Given the description of an element on the screen output the (x, y) to click on. 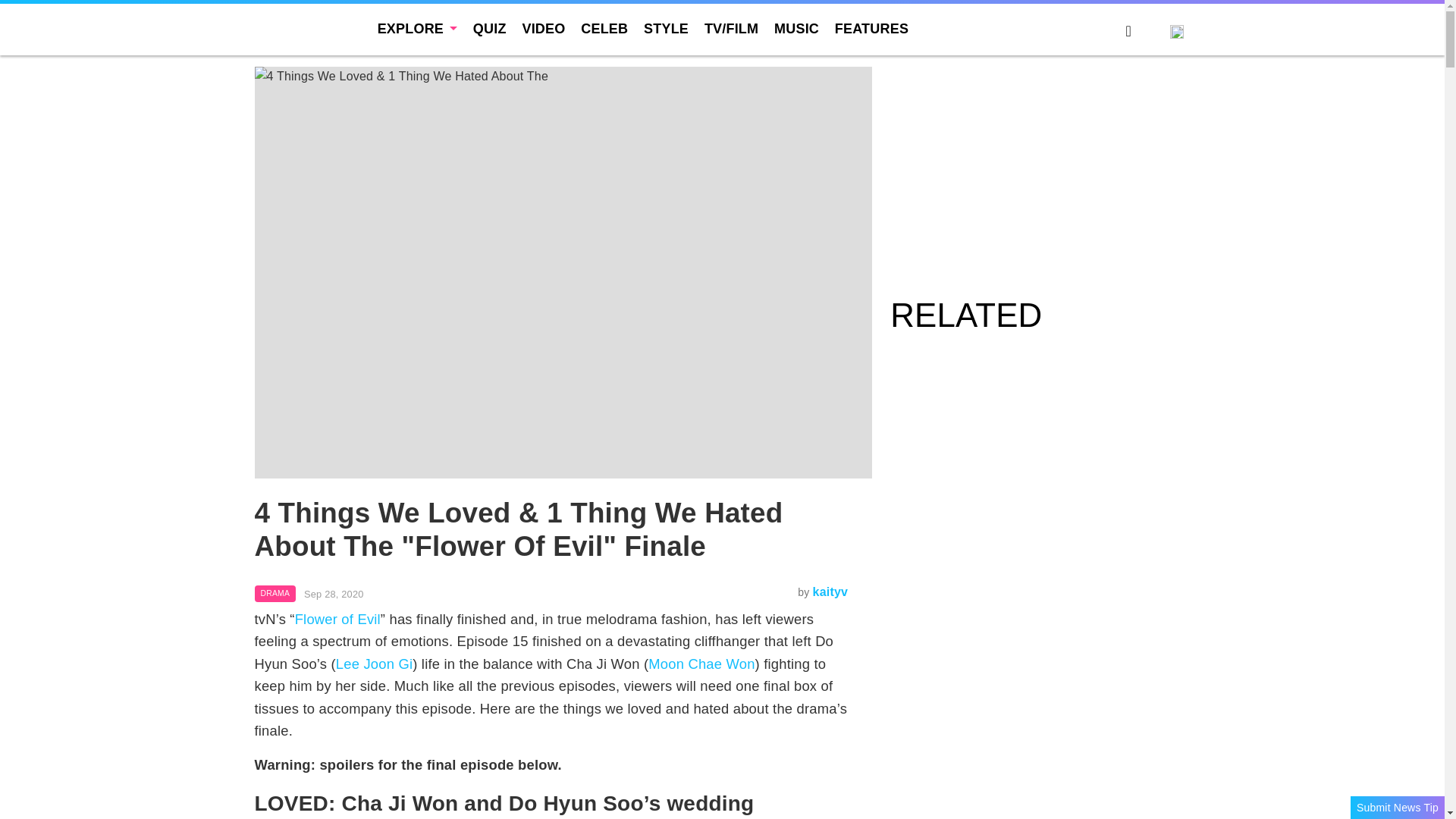
Moon Chae Won (700, 663)
DRAMA (275, 593)
Lee Joon Gi (374, 663)
EXPLORE (417, 28)
FEATURES (871, 28)
Night Mode Toggle (1149, 33)
CELEB (603, 28)
QUIZ (489, 28)
Flower of Evil (337, 618)
kaityv (830, 591)
